Given the description of an element on the screen output the (x, y) to click on. 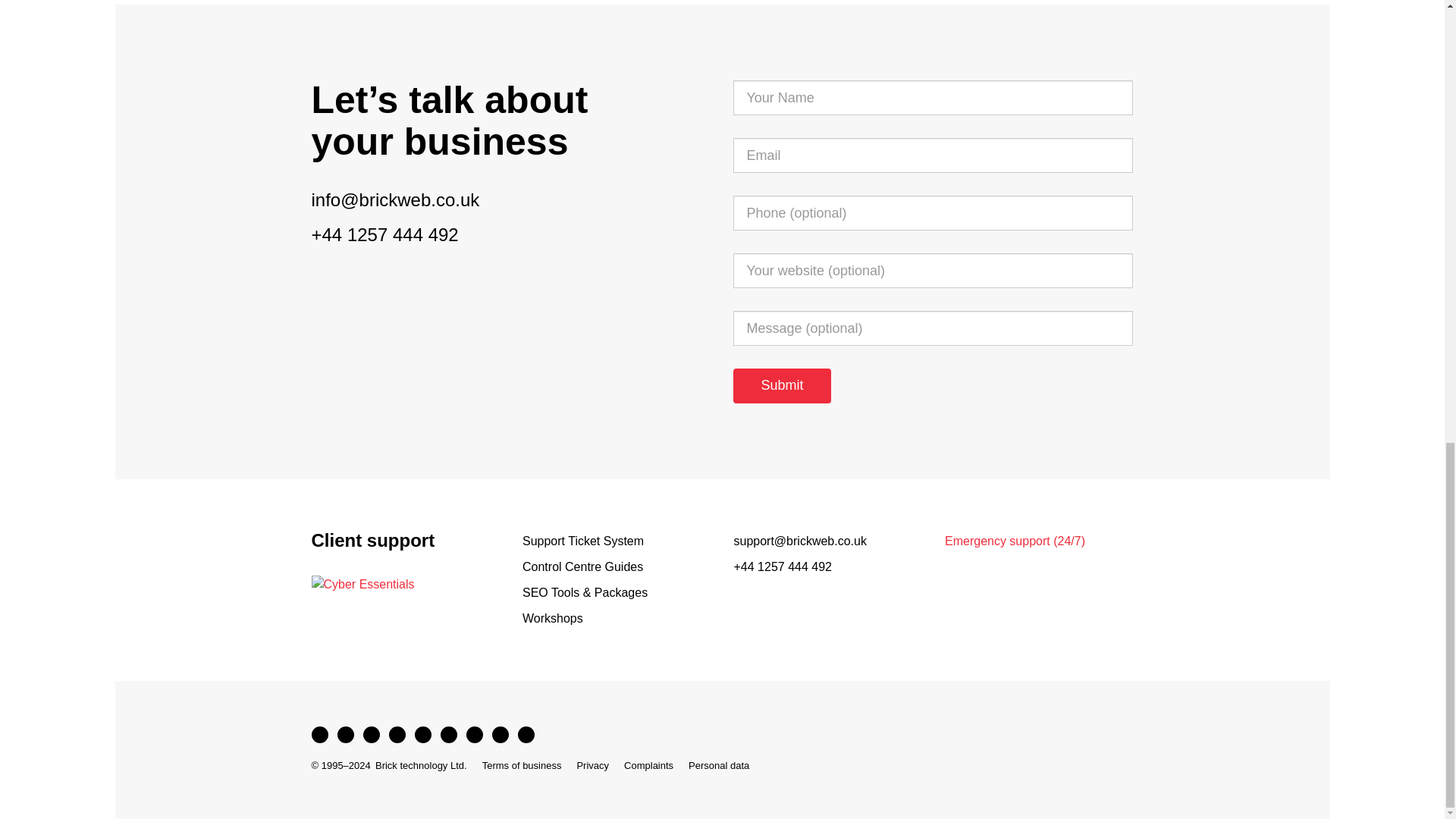
Facebook (318, 734)
Get a copy of your personal data or Erase my personal data (718, 765)
YouTube (396, 734)
Instagram (448, 734)
X (344, 734)
Threads (371, 734)
TikTok (422, 734)
